Given the description of an element on the screen output the (x, y) to click on. 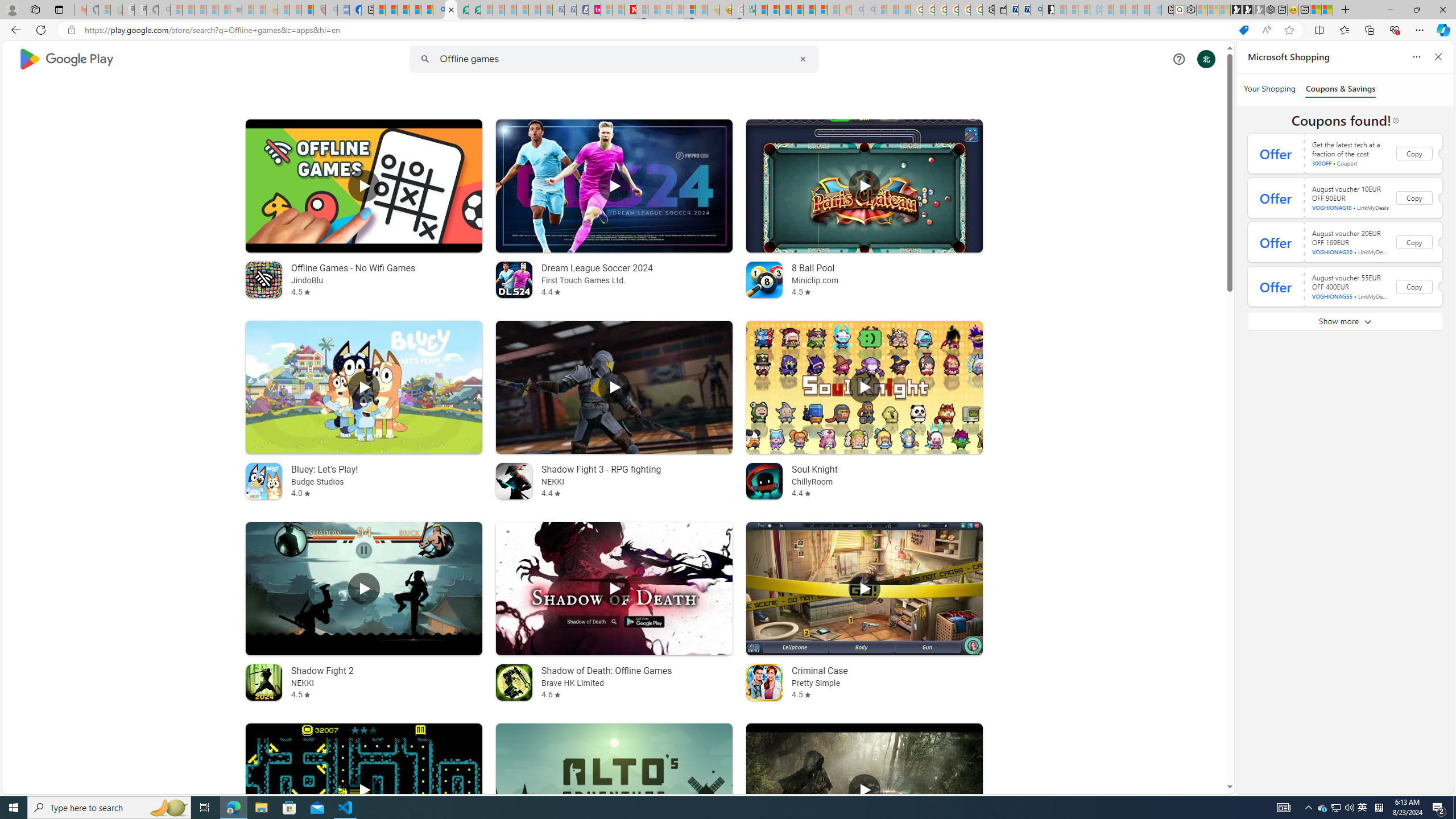
Refresh (40, 29)
This site has coupons! Shopping in Microsoft Edge (1243, 29)
Browser essentials (1394, 29)
Terms of Use Agreement (462, 9)
Play Dream League Soccer 2024 (613, 185)
New Report Confirms 2023 Was Record Hot | Watch - Sleeping (223, 9)
Kinda Frugal - MSN (808, 9)
Class: hQnXo (613, 58)
Utah sues federal government - Search - Sleeping (868, 9)
